Given the description of an element on the screen output the (x, y) to click on. 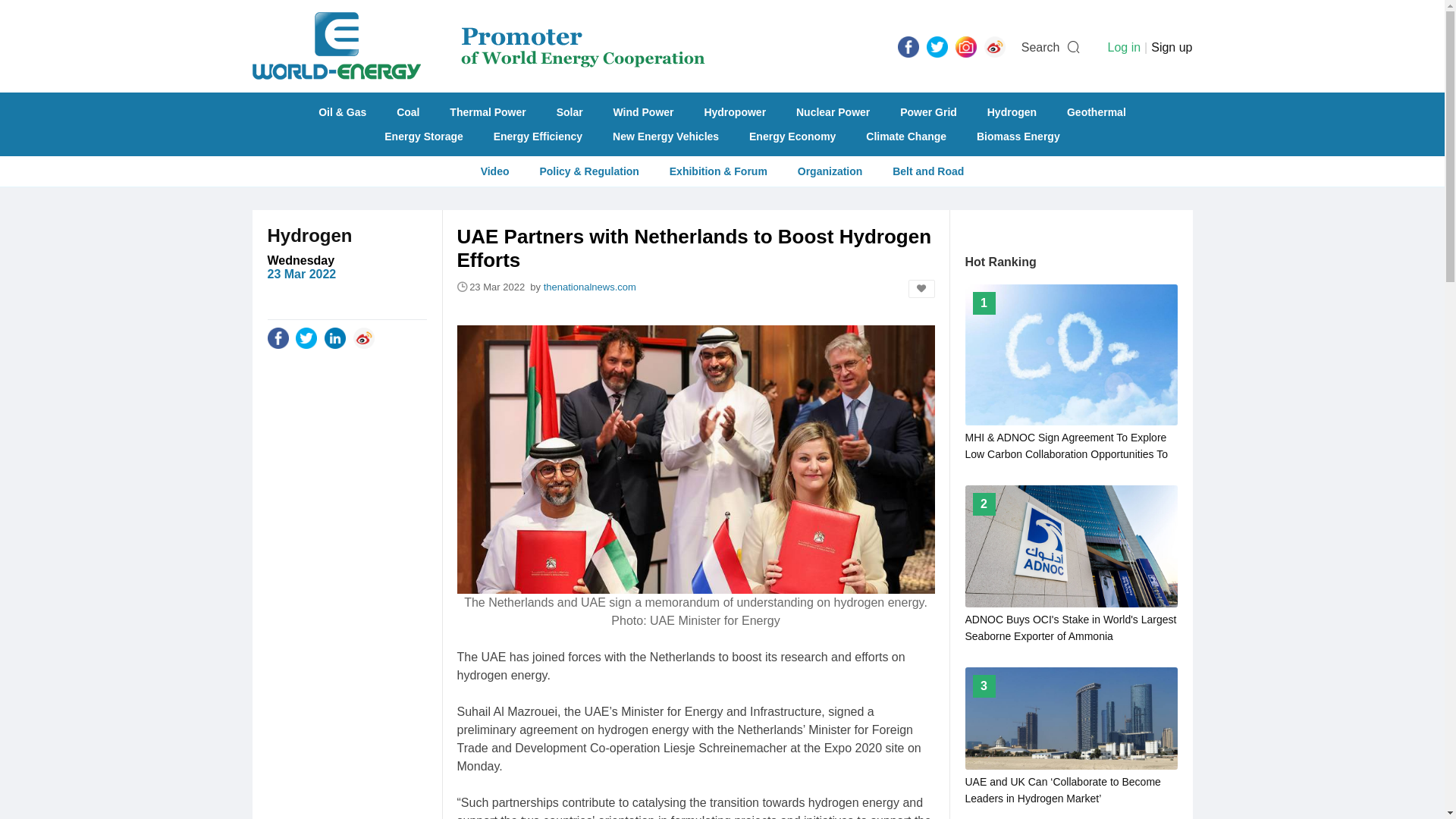
Geothermal (1096, 111)
Tweet (306, 337)
Thermal Power (486, 111)
Coal (407, 111)
Belt and Road (927, 171)
Share on Facebook (277, 337)
You can subscribe (1123, 47)
Hydrogen (309, 235)
Biomass Energy (1018, 136)
Energy Storage (423, 136)
Tweet (936, 46)
Add to my favorites (921, 289)
Hydropower (734, 111)
World Energy (477, 46)
